Given the description of an element on the screen output the (x, y) to click on. 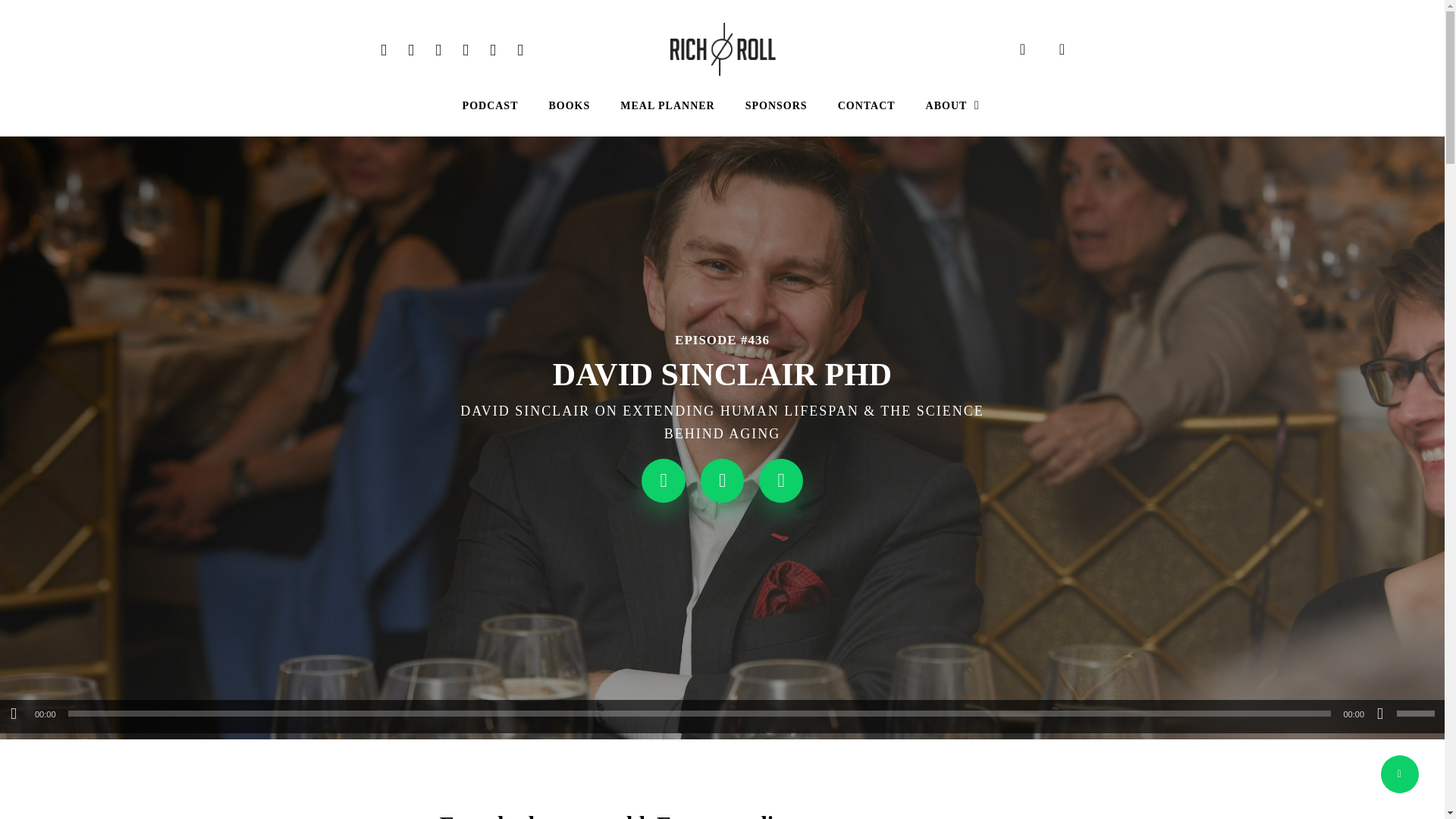
YOUTUBE (438, 49)
FACEBOOK (411, 49)
ABOUT (954, 105)
SPONSORS (776, 105)
CONTACT (866, 105)
MEAL PLANNER (667, 105)
TWITTER (383, 49)
account (1061, 48)
GITHUB (465, 49)
PODCAST (490, 105)
search (1021, 48)
BOOKS (569, 105)
SPOTIFY (520, 49)
INSTAGRAM (492, 49)
